Given the description of an element on the screen output the (x, y) to click on. 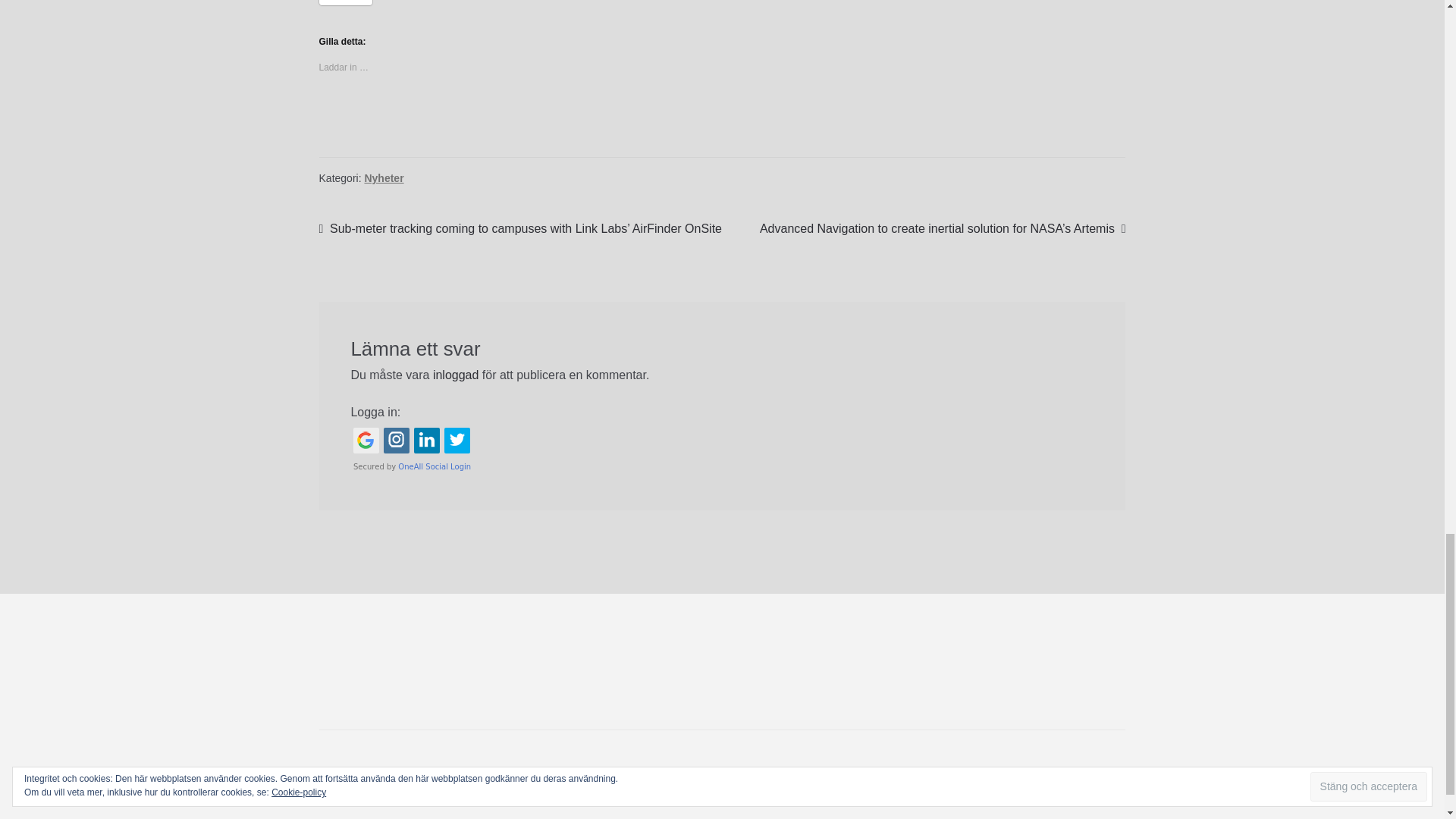
inloggad (455, 374)
Gilla eller reblogga (721, 119)
Nyheter (383, 177)
Dela (345, 2)
Login with Social Networks (721, 449)
